Given the description of an element on the screen output the (x, y) to click on. 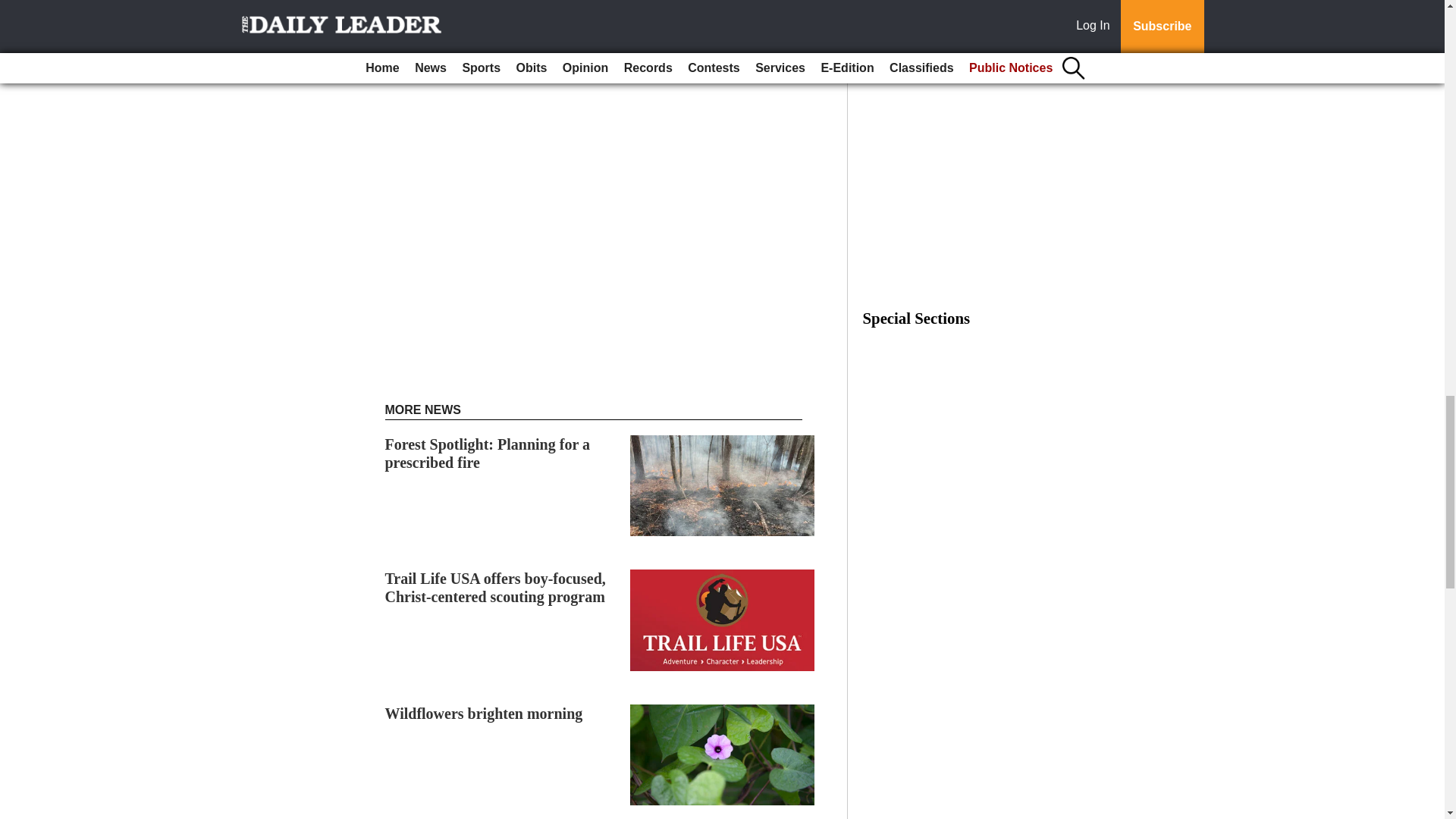
Forest Spotlight: Planning for a prescribed fire (487, 452)
Forest Spotlight: Planning for a prescribed fire (487, 452)
Wildflowers brighten morning (484, 713)
Wildflowers brighten morning (484, 713)
